Given the description of an element on the screen output the (x, y) to click on. 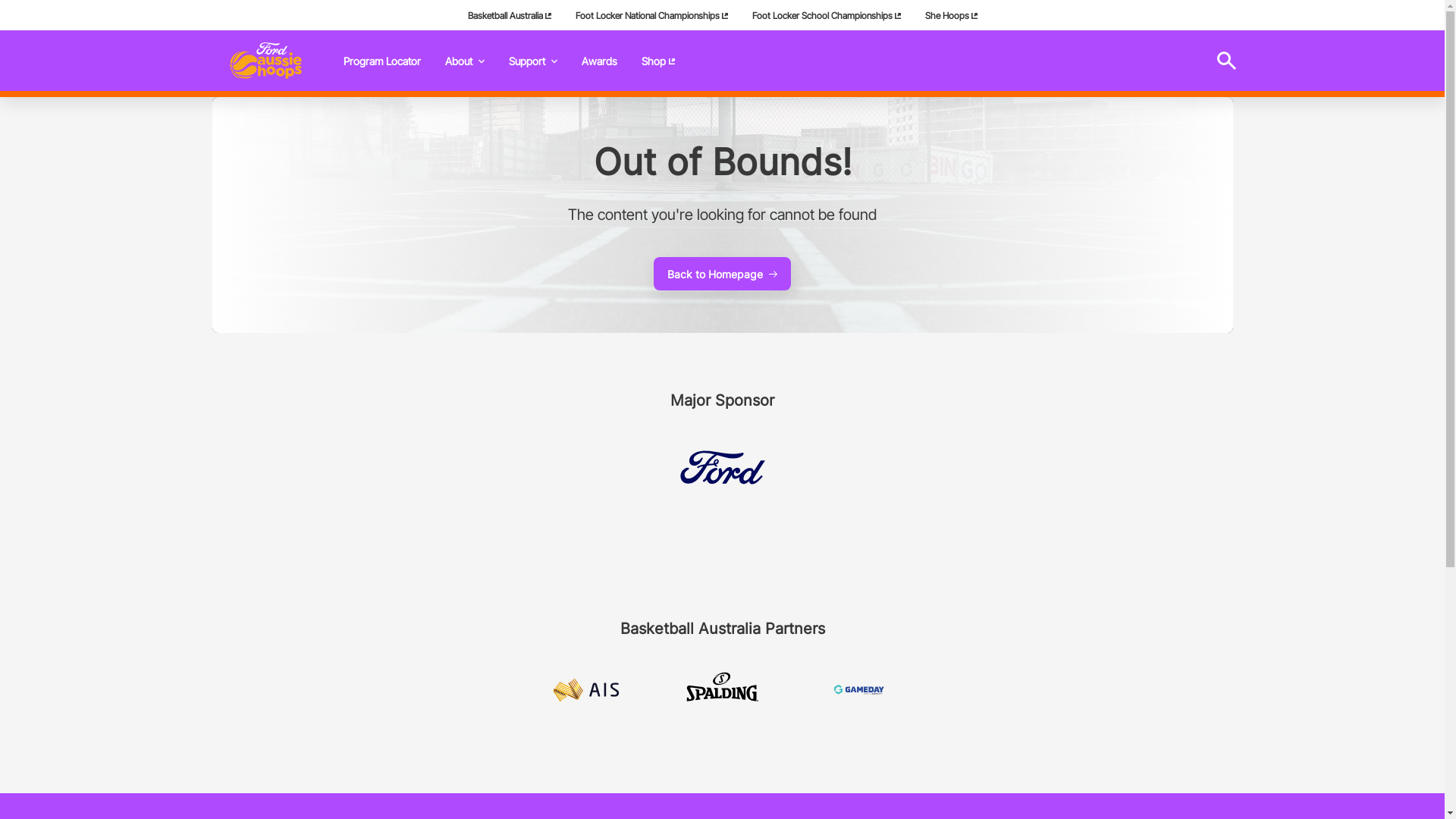
Foot Locker National Championships Element type: text (650, 15)
Basketball Australia Element type: text (508, 15)
Partner Spalding Element type: hover (721, 689)
Return to Homepage Element type: hover (265, 60)
Partner AIS Element type: hover (585, 689)
Program Locator Element type: text (381, 60)
Spalding Element type: hover (721, 689)
Back to Homepage Element type: text (721, 273)
Partner Ford Element type: hover (721, 466)
Major Partner Ford Element type: hover (721, 466)
Support Element type: text (531, 60)
About Element type: text (463, 60)
Foot Locker School Championships Element type: text (826, 15)
Awards Element type: text (598, 60)
Shop Element type: text (658, 60)
She Hoops Element type: text (951, 15)
Partner SportsTG Element type: hover (858, 690)
SportsTG Element type: hover (858, 689)
AIS Element type: hover (585, 689)
